Given the description of an element on the screen output the (x, y) to click on. 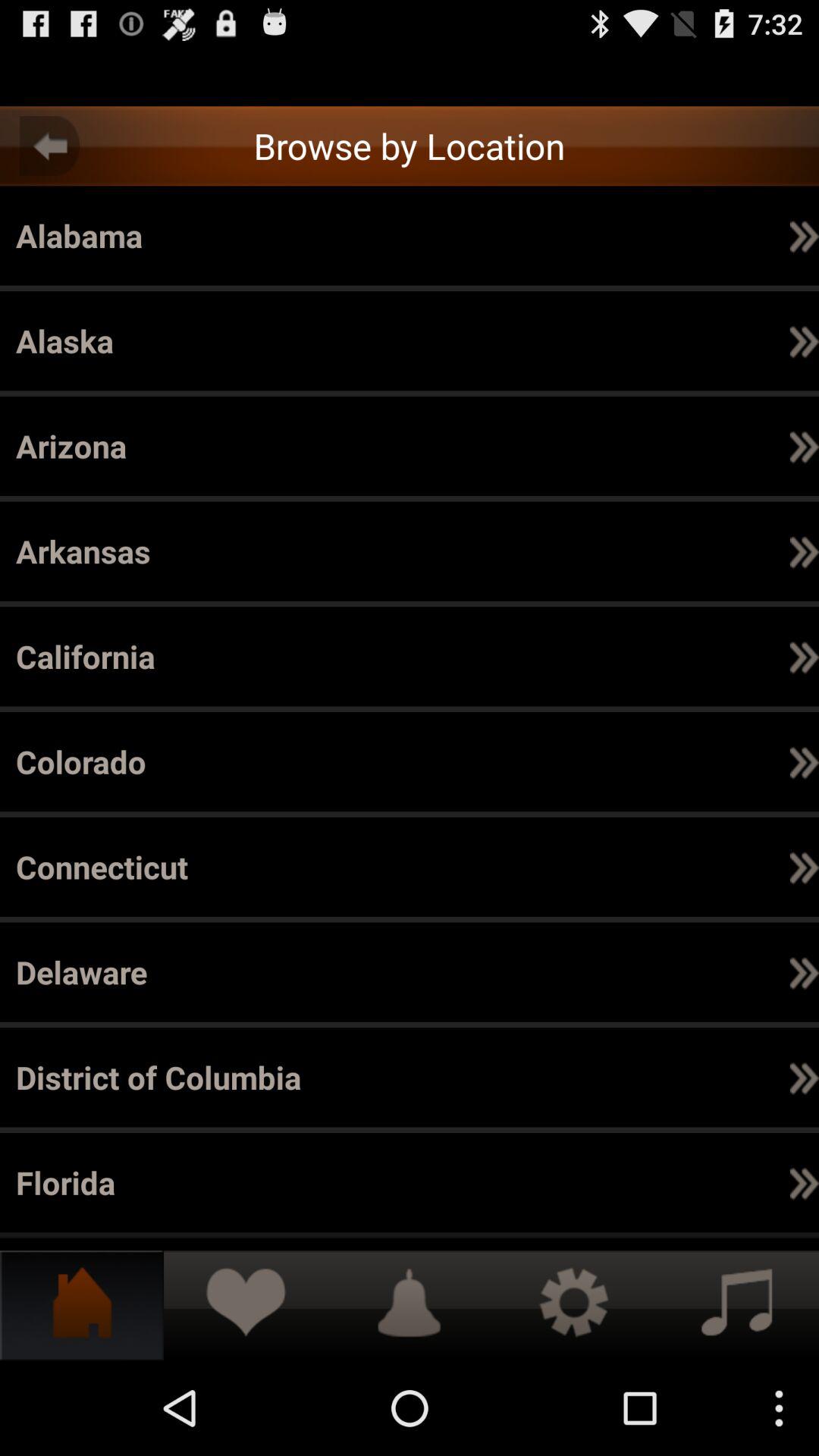
turn on app below the   amador app (658, 551)
